Given the description of an element on the screen output the (x, y) to click on. 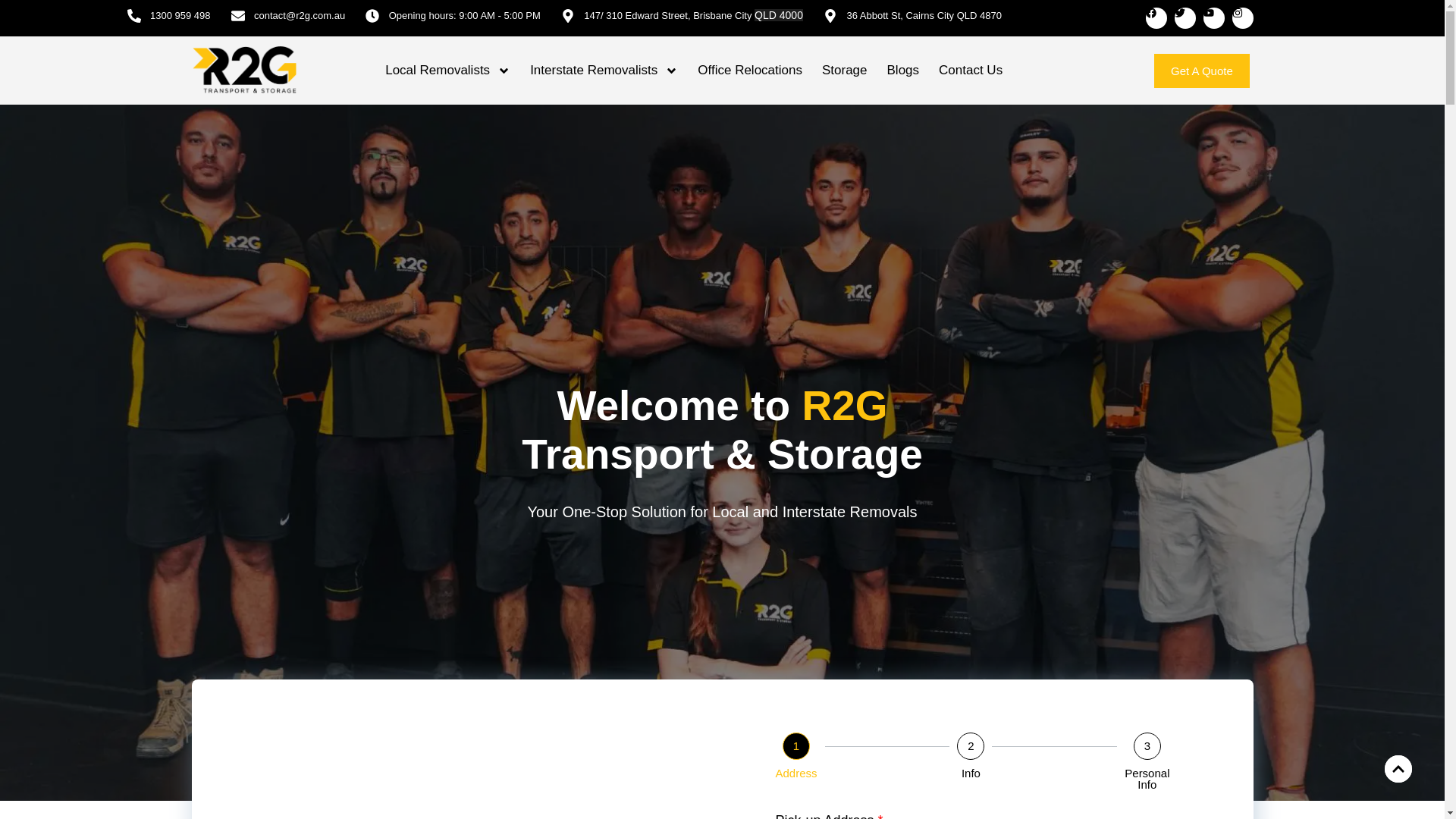
Local Removalists (447, 70)
Interstate Removalists (603, 70)
1300 959 498 (169, 15)
36 Abbott St, Cairns City QLD 4870 (912, 15)
